Given the description of an element on the screen output the (x, y) to click on. 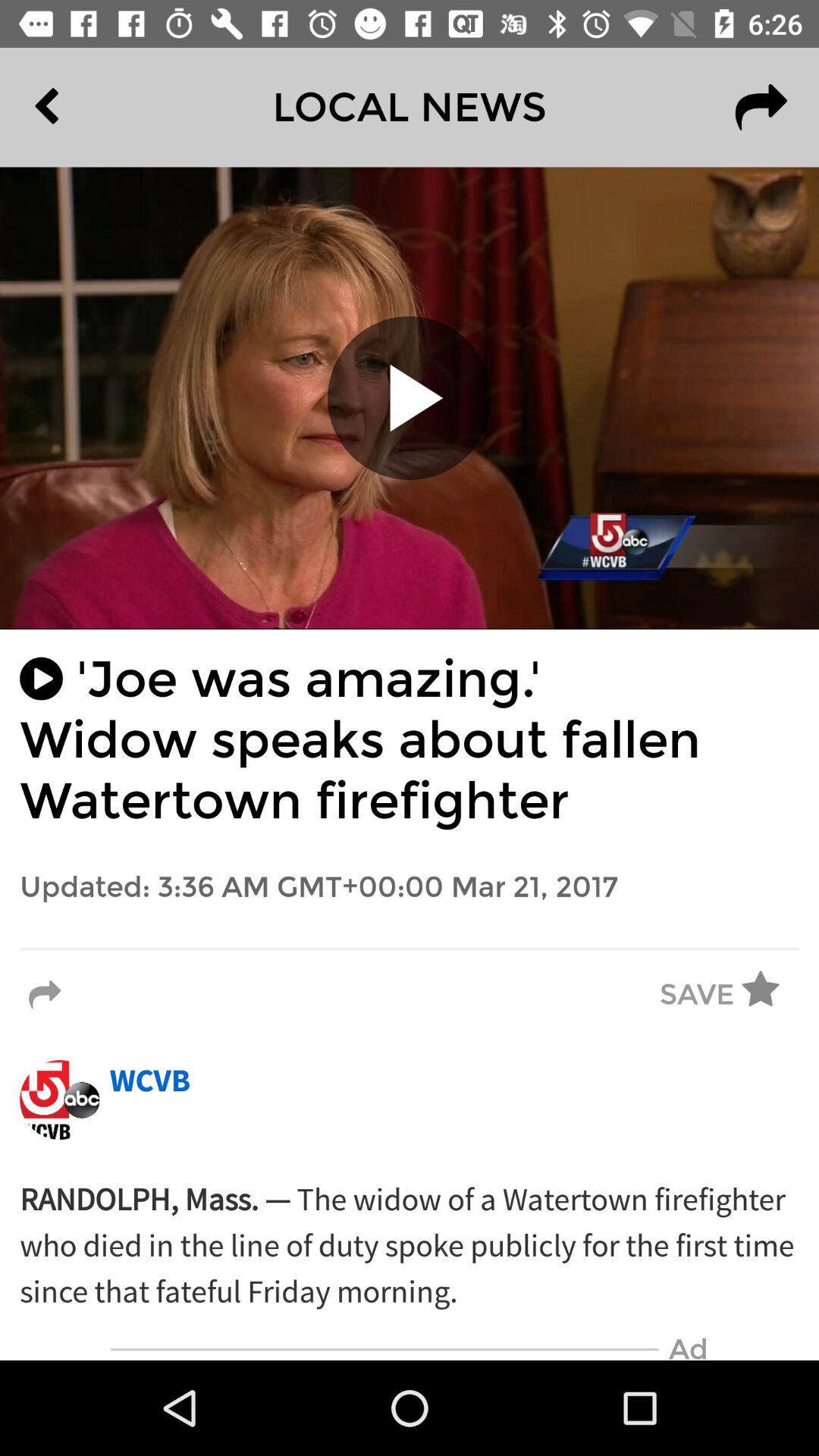
launch the item to the right of the save (770, 995)
